Given the description of an element on the screen output the (x, y) to click on. 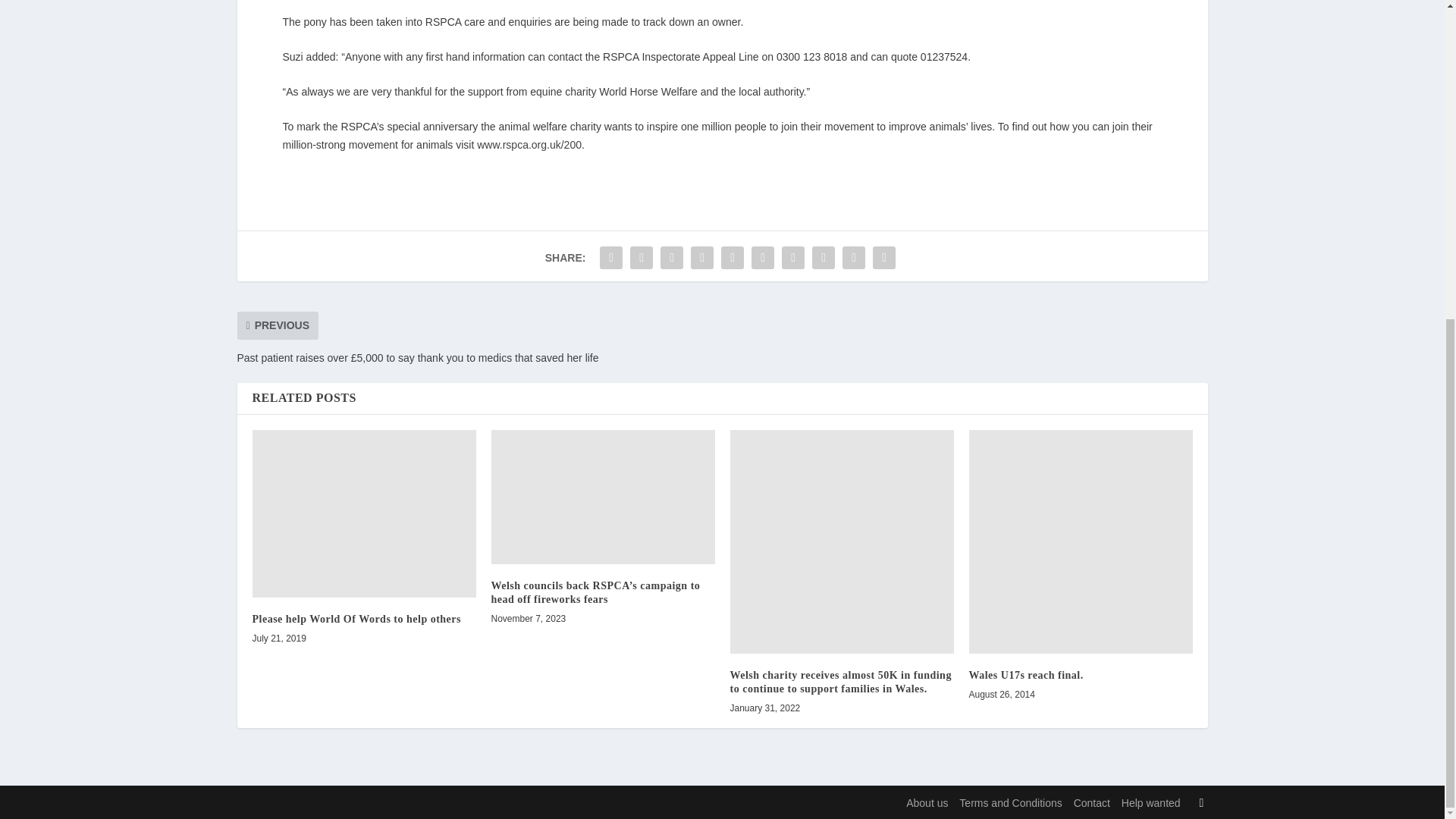
Wales U17s reach final. (1080, 541)
Please help World Of Words to help others (363, 513)
